Given the description of an element on the screen output the (x, y) to click on. 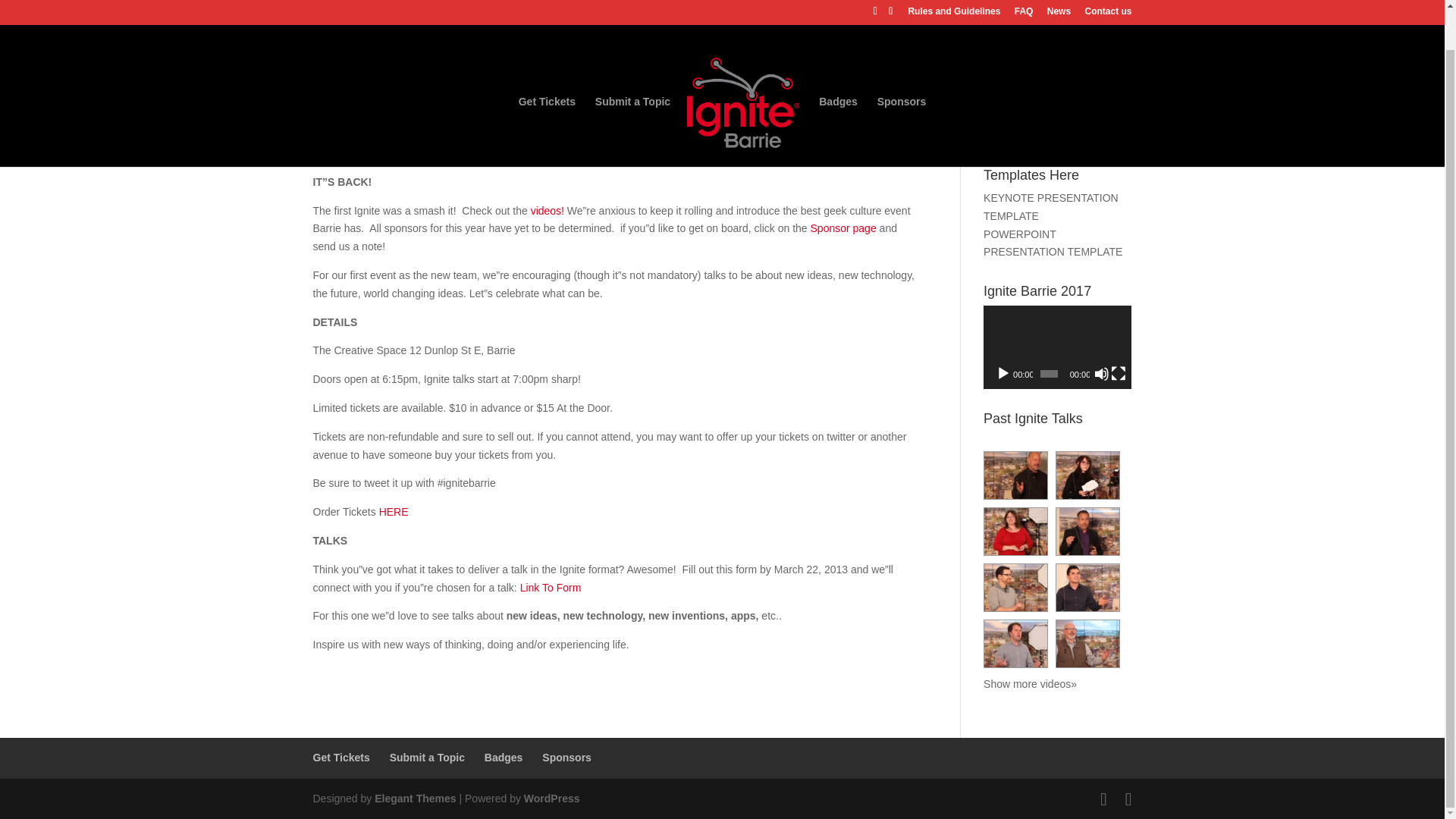
Mute (1101, 373)
Ignite Barrie (489, 124)
Posts by admin (340, 124)
Play (1002, 373)
Matt- Ignite-Speaker5 (1016, 587)
Travis - Ignite-Speaker6 (1087, 587)
Premium WordPress Themes (414, 798)
KEYNOTE PRESENTATION TEMPLATE (1051, 206)
Dan Lerch - Ignite-Speaker8 (1016, 643)
0 comments (588, 124)
